Given the description of an element on the screen output the (x, y) to click on. 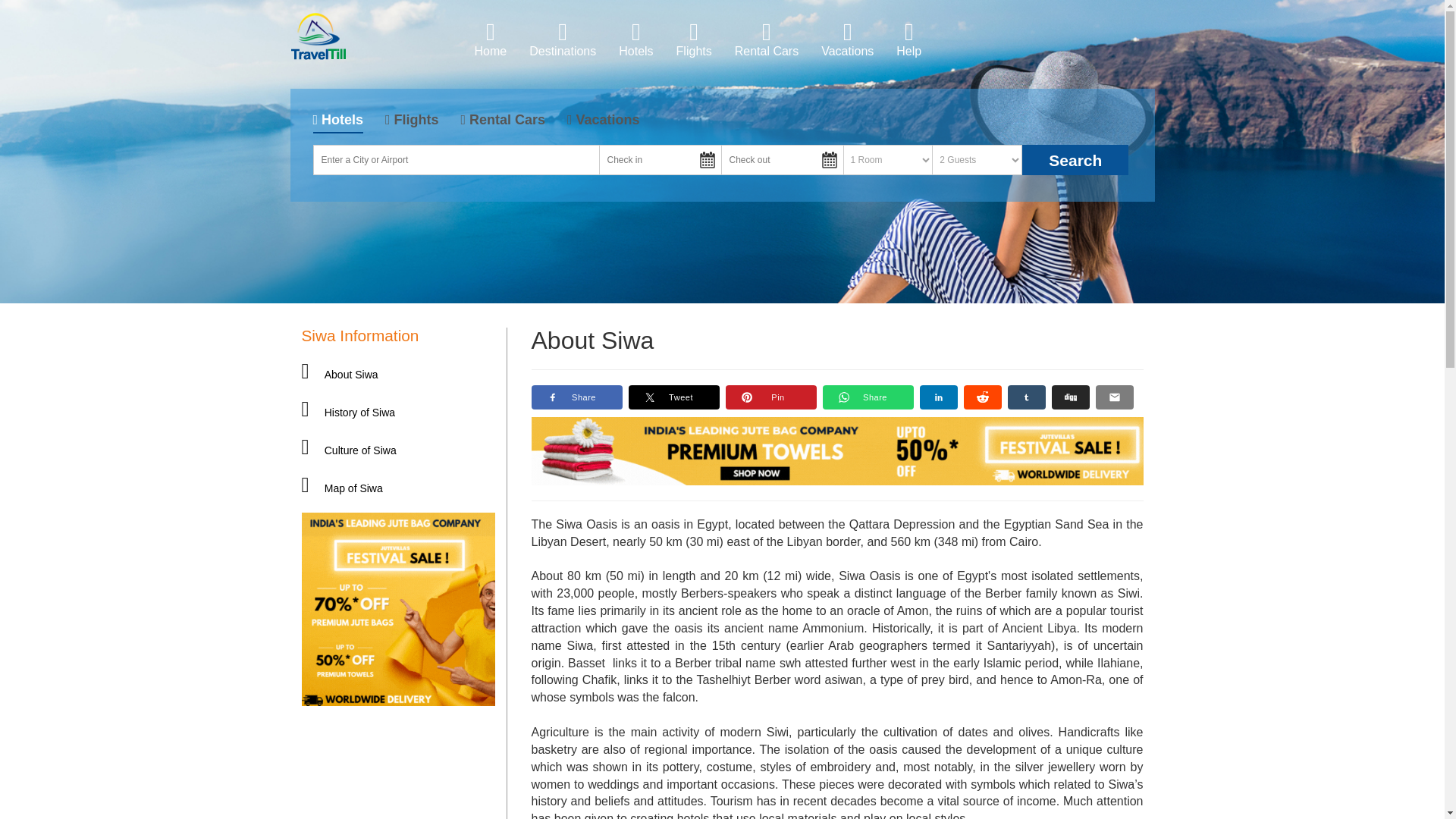
About Siwa (339, 374)
Search (1075, 159)
Hotels (635, 39)
Map of Siwa (341, 488)
Rental Cars (766, 39)
Check out (781, 159)
Home (490, 39)
Culture of Siwa (191, 450)
Search (1075, 159)
Destinations (562, 39)
Culture of Siwa (348, 450)
History of Siwa (348, 412)
History of Siwa (156, 412)
Enter your check out date. (781, 159)
Flights (694, 39)
